Given the description of an element on the screen output the (x, y) to click on. 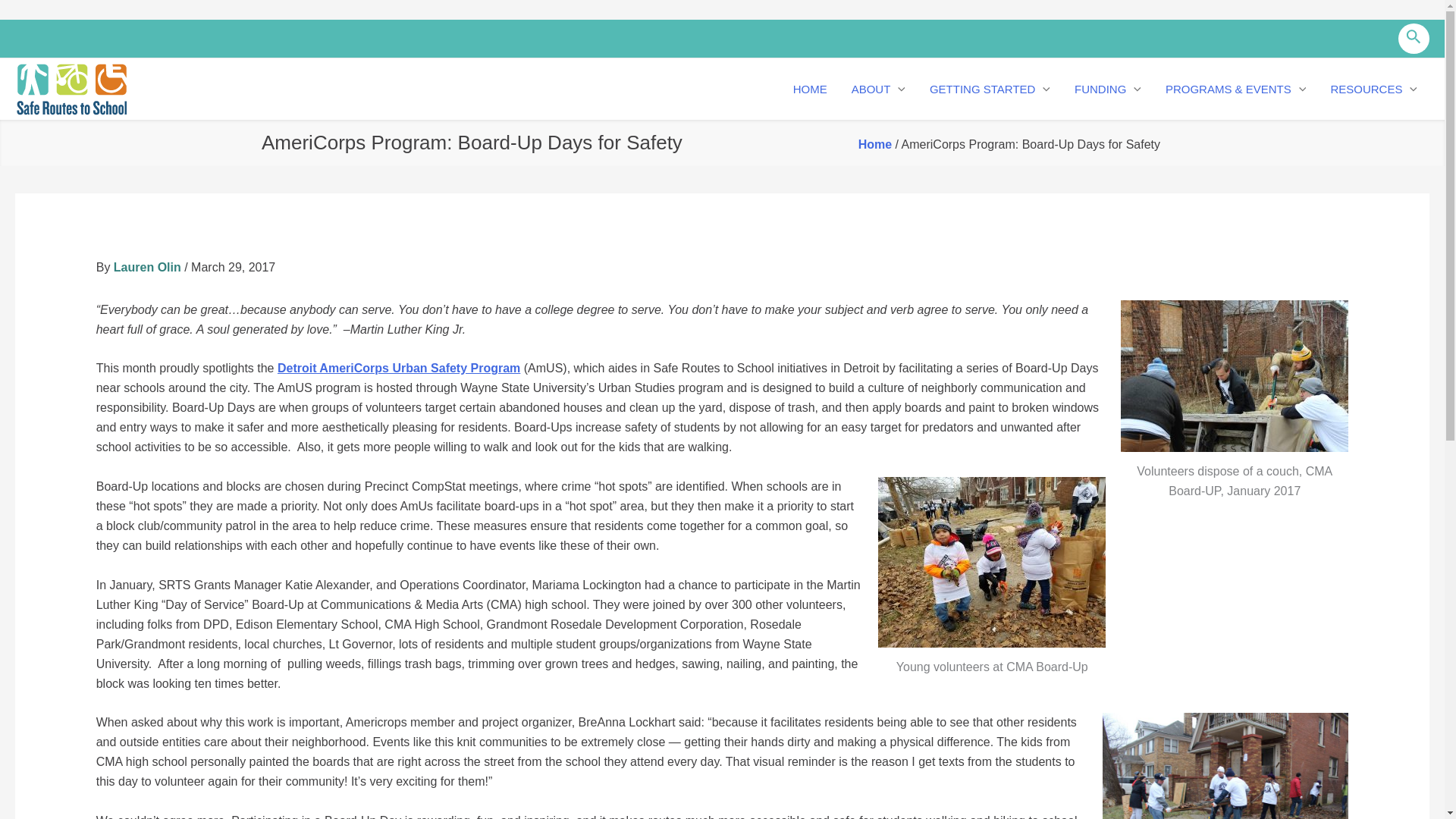
View all posts by Lauren Olin (148, 267)
Search (1413, 38)
FUNDING (1107, 88)
HOME (810, 88)
ABOUT (878, 88)
RESOURCES (1373, 88)
GETTING STARTED (989, 88)
